Given the description of an element on the screen output the (x, y) to click on. 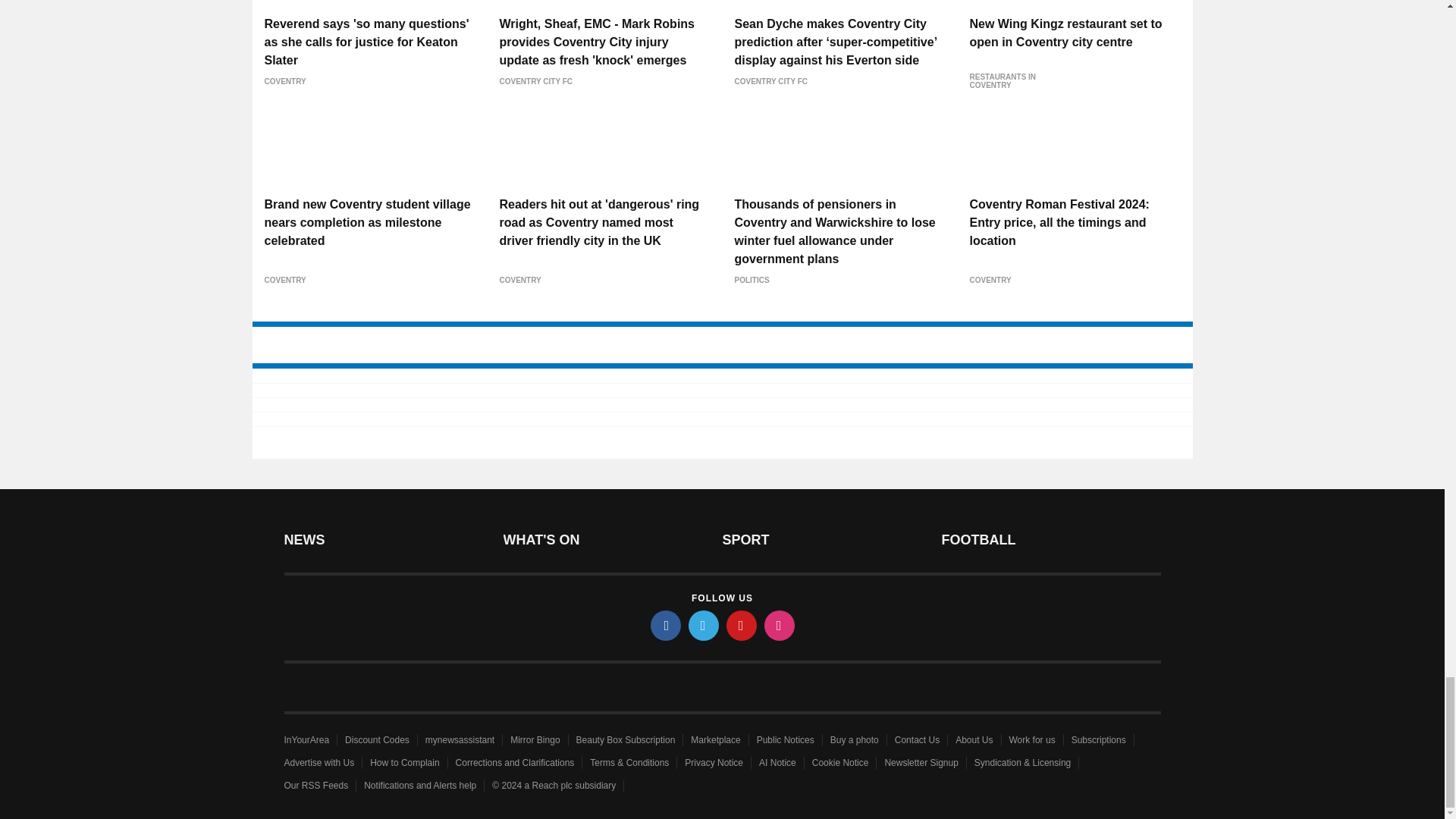
facebook (665, 625)
twitter (703, 625)
pinterest (741, 625)
instagram (779, 625)
